Given the description of an element on the screen output the (x, y) to click on. 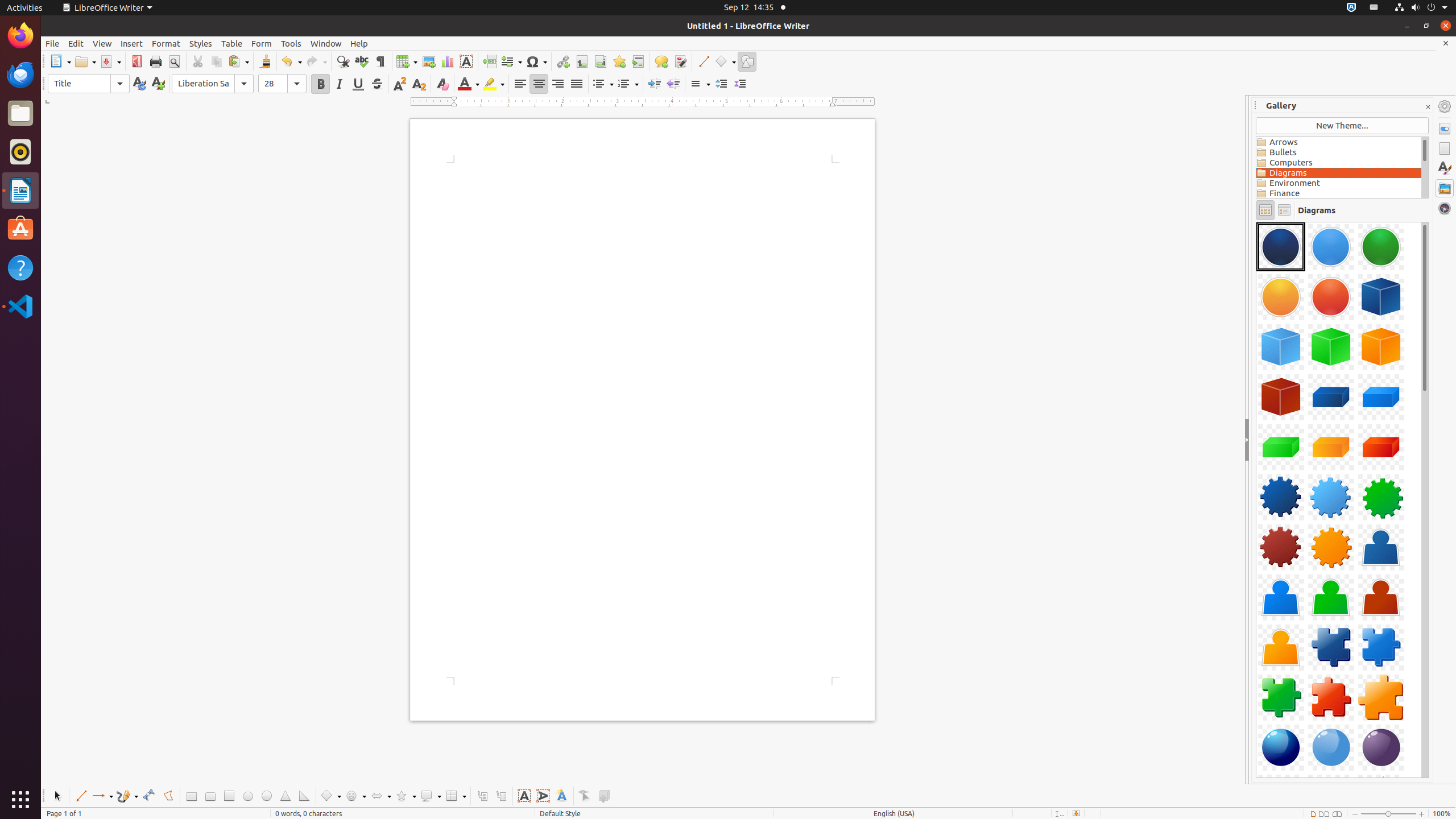
Rectangle, Rounded Element type: push-button (209, 795)
Redo Element type: push-button (315, 61)
Component-Gear02-LightBlue Element type: list-item (1330, 496)
Spelling Element type: push-button (361, 61)
Paste Element type: push-button (237, 61)
